Given the description of an element on the screen output the (x, y) to click on. 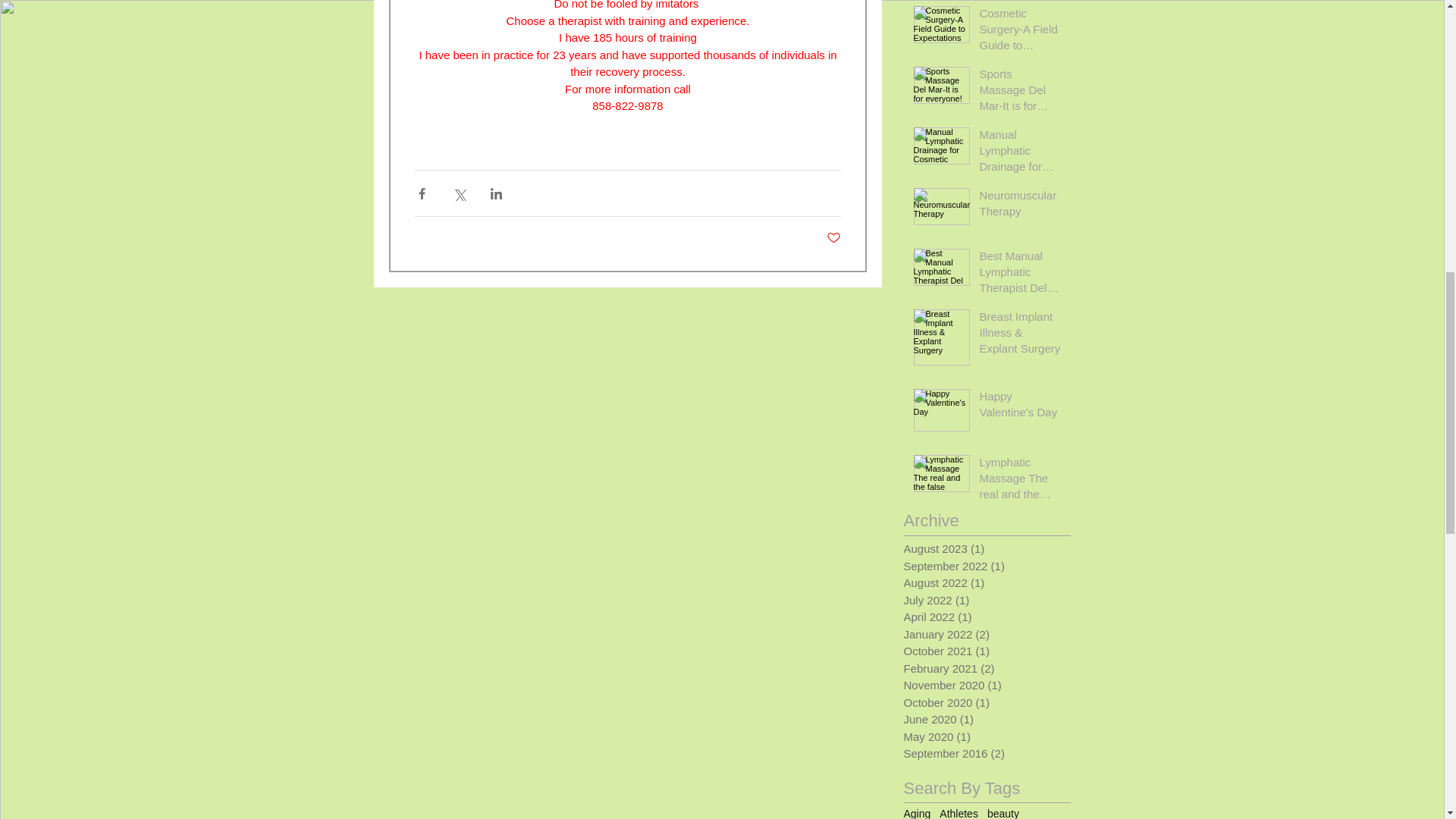
Sports Massage Del Mar-It is for everyone! (1020, 92)
Post not marked as liked (834, 238)
Neuromuscular Therapy (1020, 206)
Cosmetic Surgery-A Field Guide to Expectations and Recovery (1020, 31)
Happy Valentine's Day (1020, 406)
Best Manual Lymphatic Therapist Del Mar (1020, 275)
Lymphatic Massage The real and the false (1020, 480)
